Given the description of an element on the screen output the (x, y) to click on. 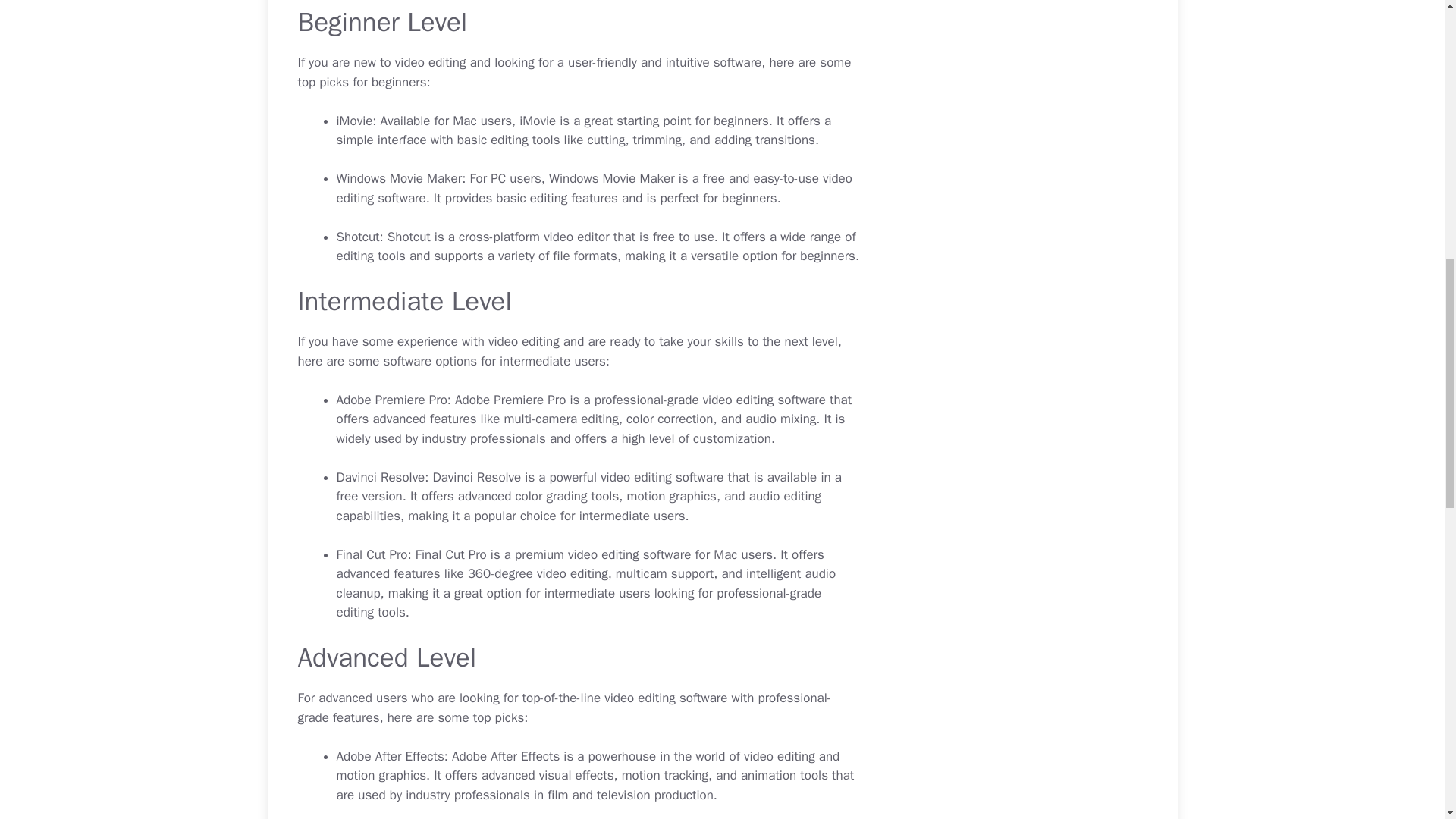
Scroll back to top (1406, 720)
